Given the description of an element on the screen output the (x, y) to click on. 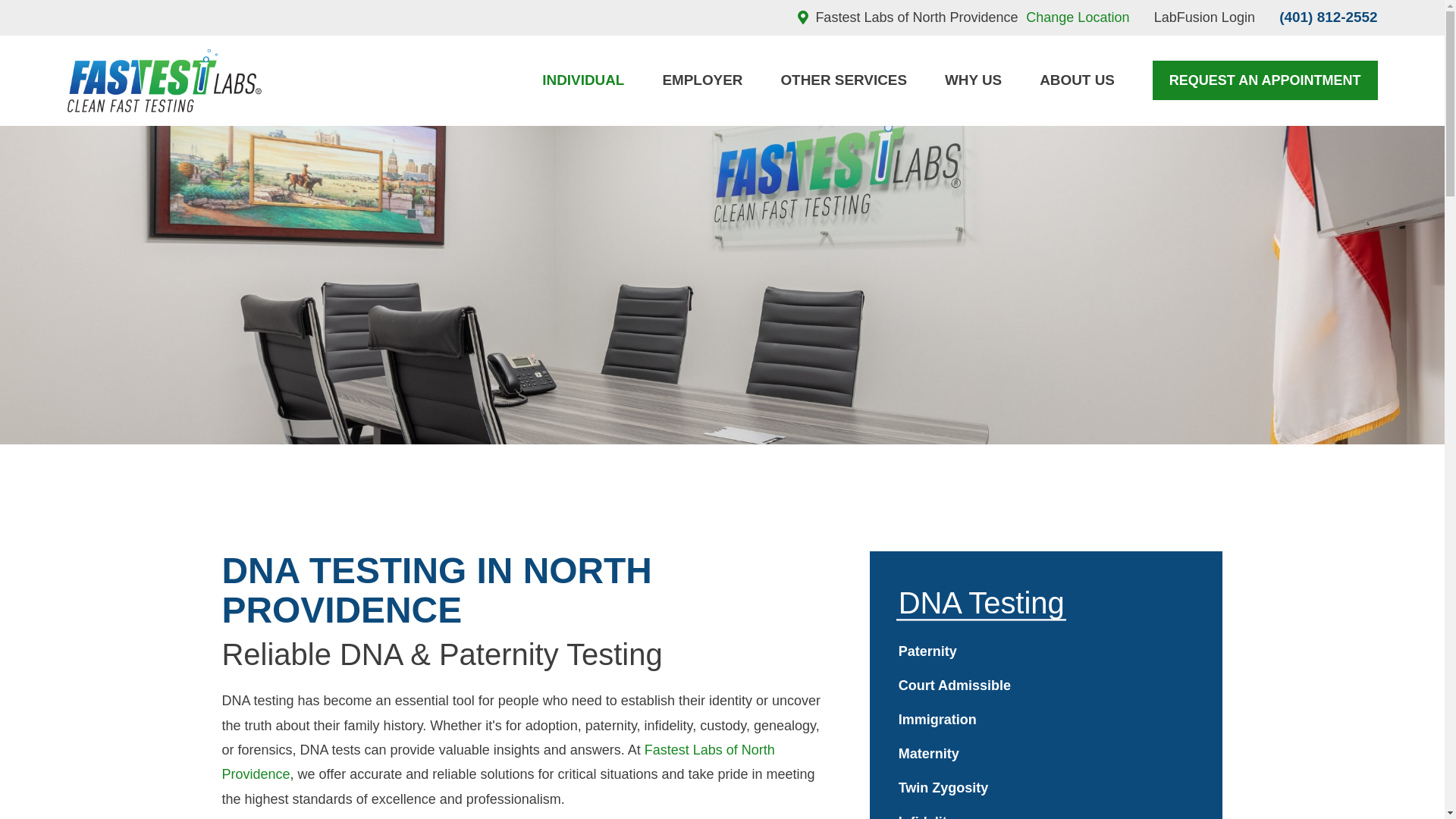
Home (163, 80)
Change Location (1077, 16)
EMPLOYER (702, 80)
INDIVIDUAL (582, 80)
LabFusion Login (1204, 17)
